Given the description of an element on the screen output the (x, y) to click on. 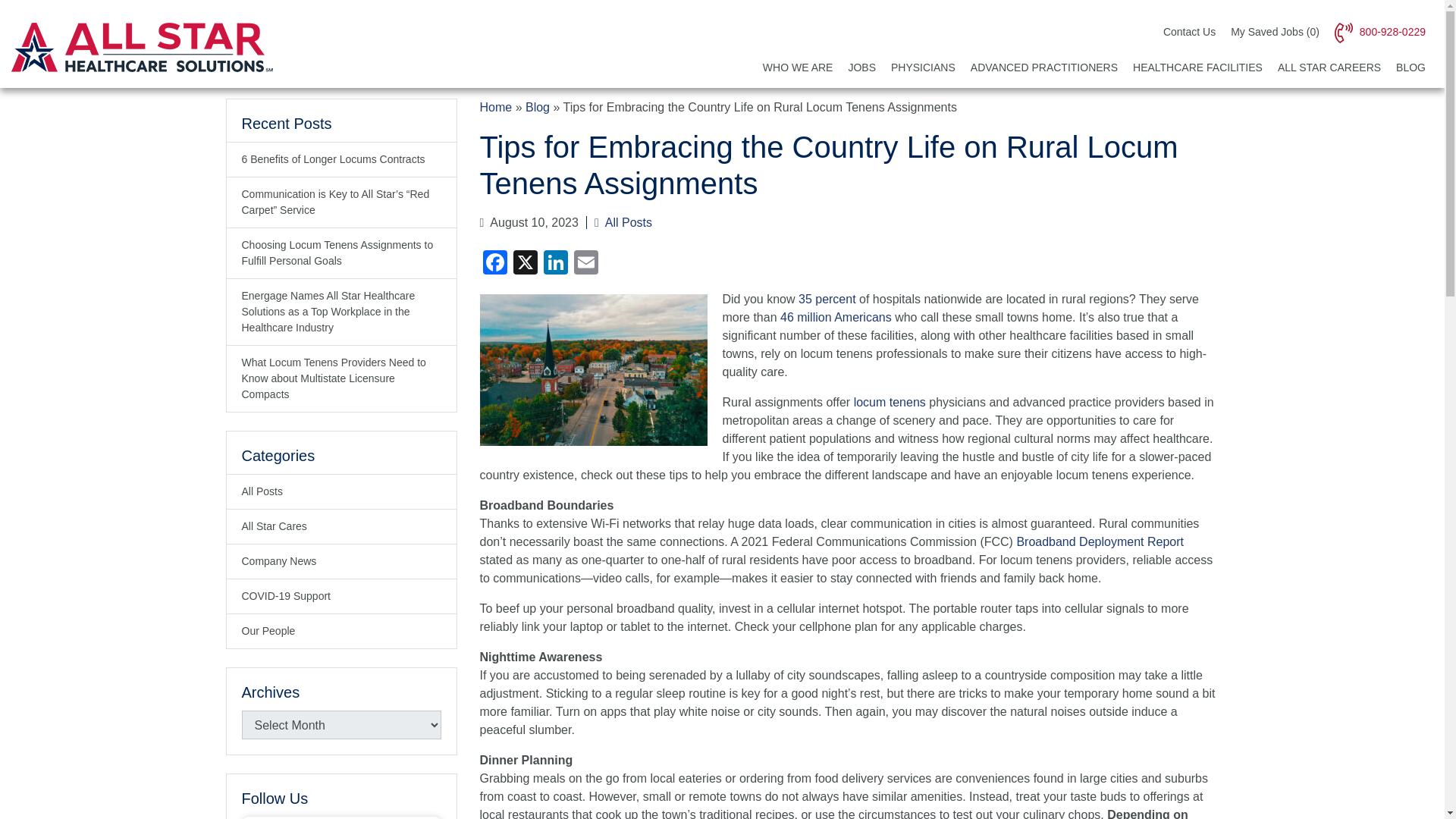
Email (584, 264)
LinkedIn (555, 264)
Facebook (494, 264)
X (524, 264)
